Given the description of an element on the screen output the (x, y) to click on. 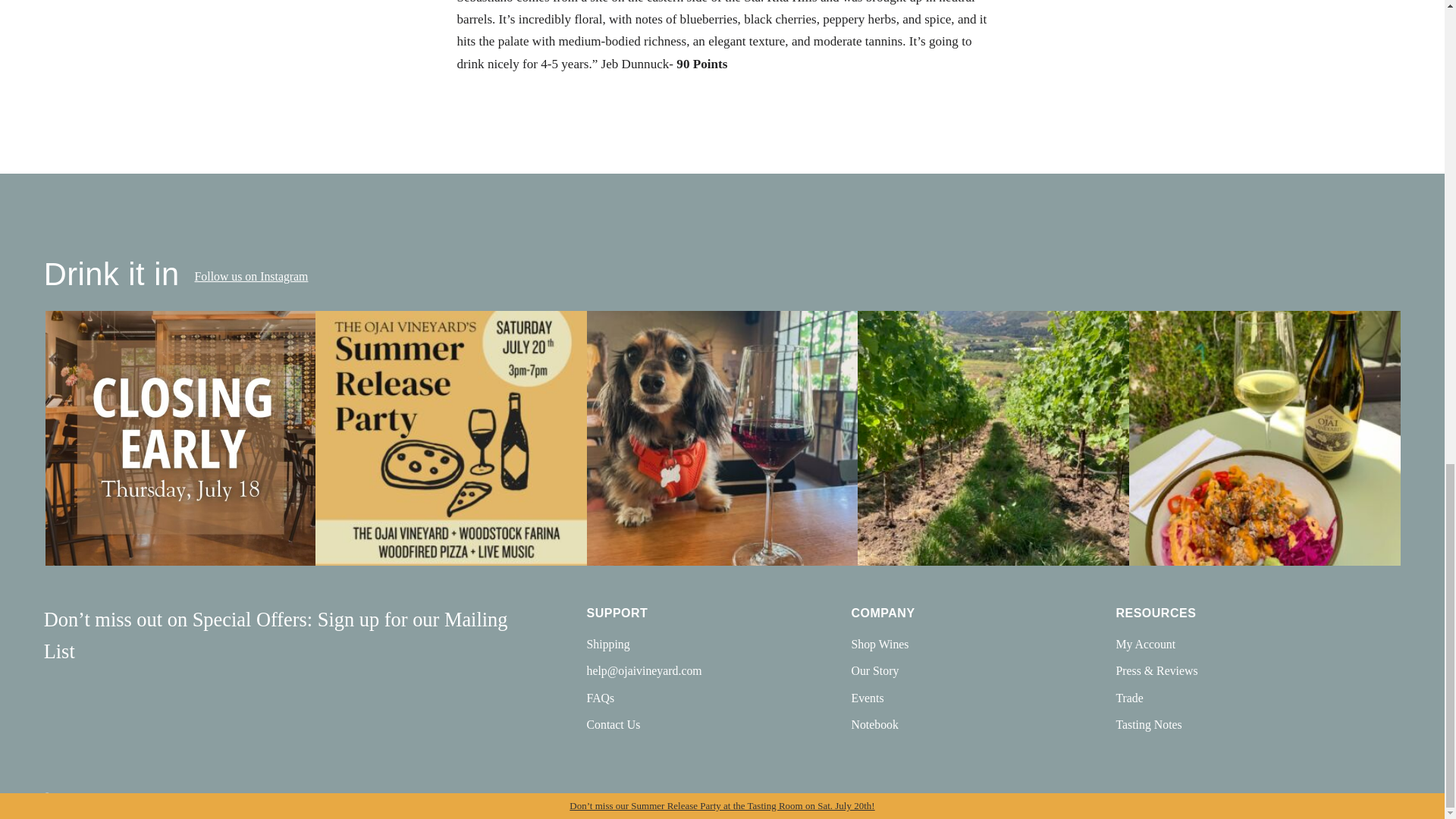
Events (866, 698)
Shipping (608, 644)
Contact Us (613, 725)
Our Story (874, 671)
Notebook (874, 725)
Shop Wines (879, 644)
Follow us on Instagram (251, 276)
FAQs (600, 698)
